Given the description of an element on the screen output the (x, y) to click on. 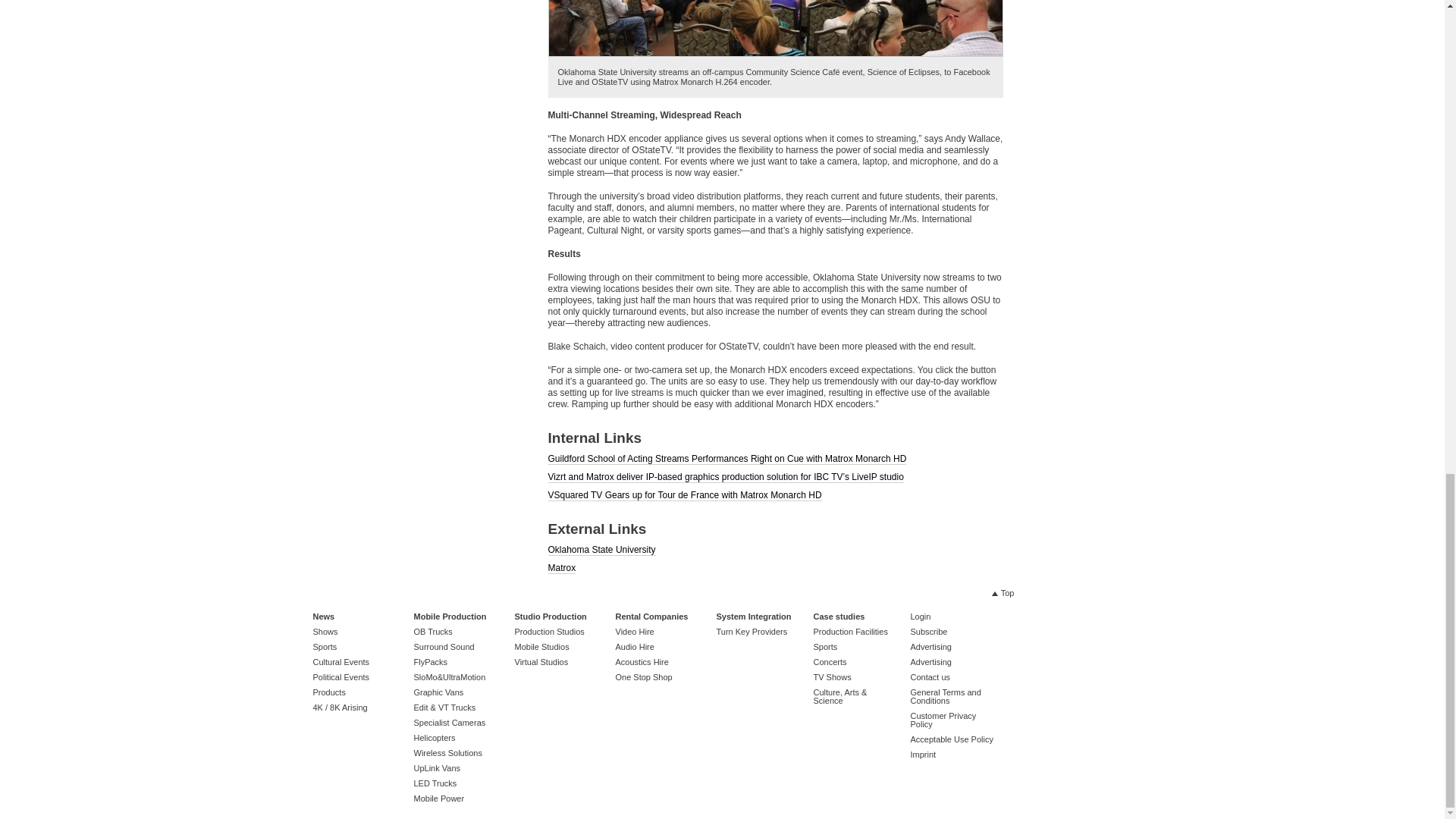
Top (1002, 592)
